Given the description of an element on the screen output the (x, y) to click on. 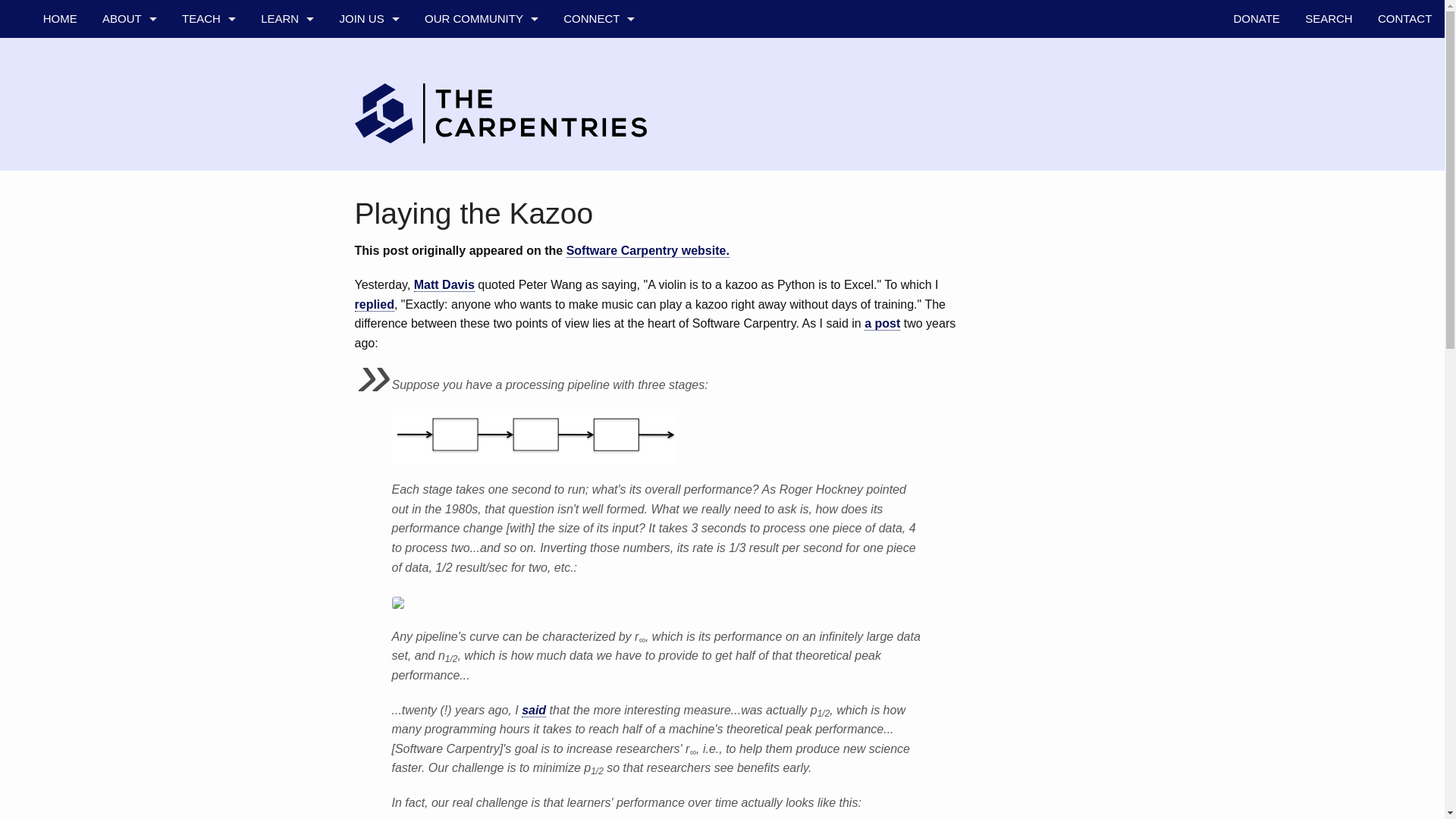
HOME (59, 18)
DATA CARPENTRY LESSONS (207, 94)
BECOME AN INSTRUCTOR (207, 246)
LESSON DEVELOPMENT TRAINING (207, 360)
ANNUAL REPORTS (128, 284)
WHAT IS A WORKSHOP? (207, 56)
OUR CURRICULA (286, 94)
ONLINE WORKSHOP RECOMMENDATIONS (207, 322)
SUPPORTERS (128, 208)
OUR IMPACT (286, 208)
